Given the description of an element on the screen output the (x, y) to click on. 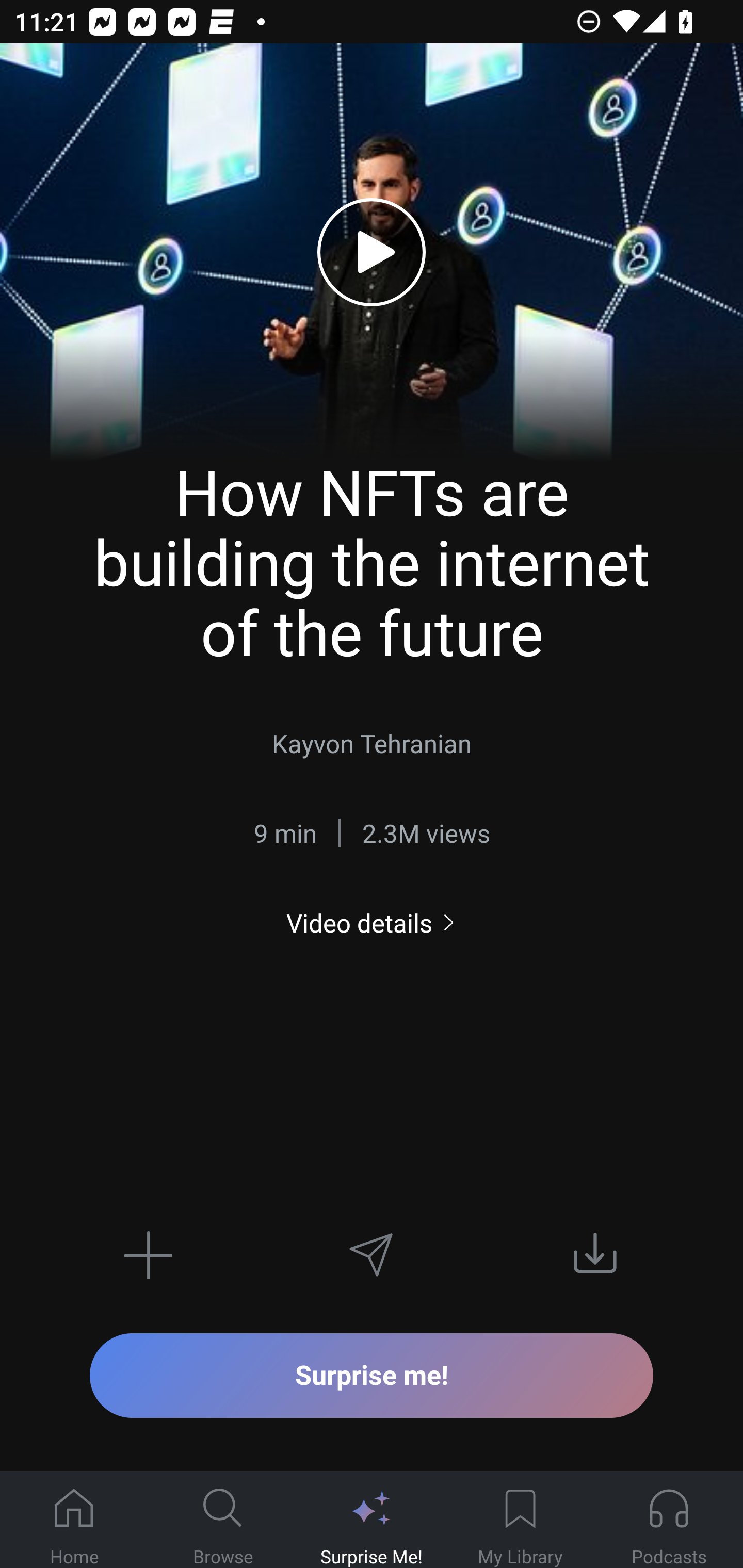
Video details (371, 922)
Surprise me! (371, 1374)
Home (74, 1520)
Browse (222, 1520)
Surprise Me! (371, 1520)
My Library (519, 1520)
Podcasts (668, 1520)
